Given the description of an element on the screen output the (x, y) to click on. 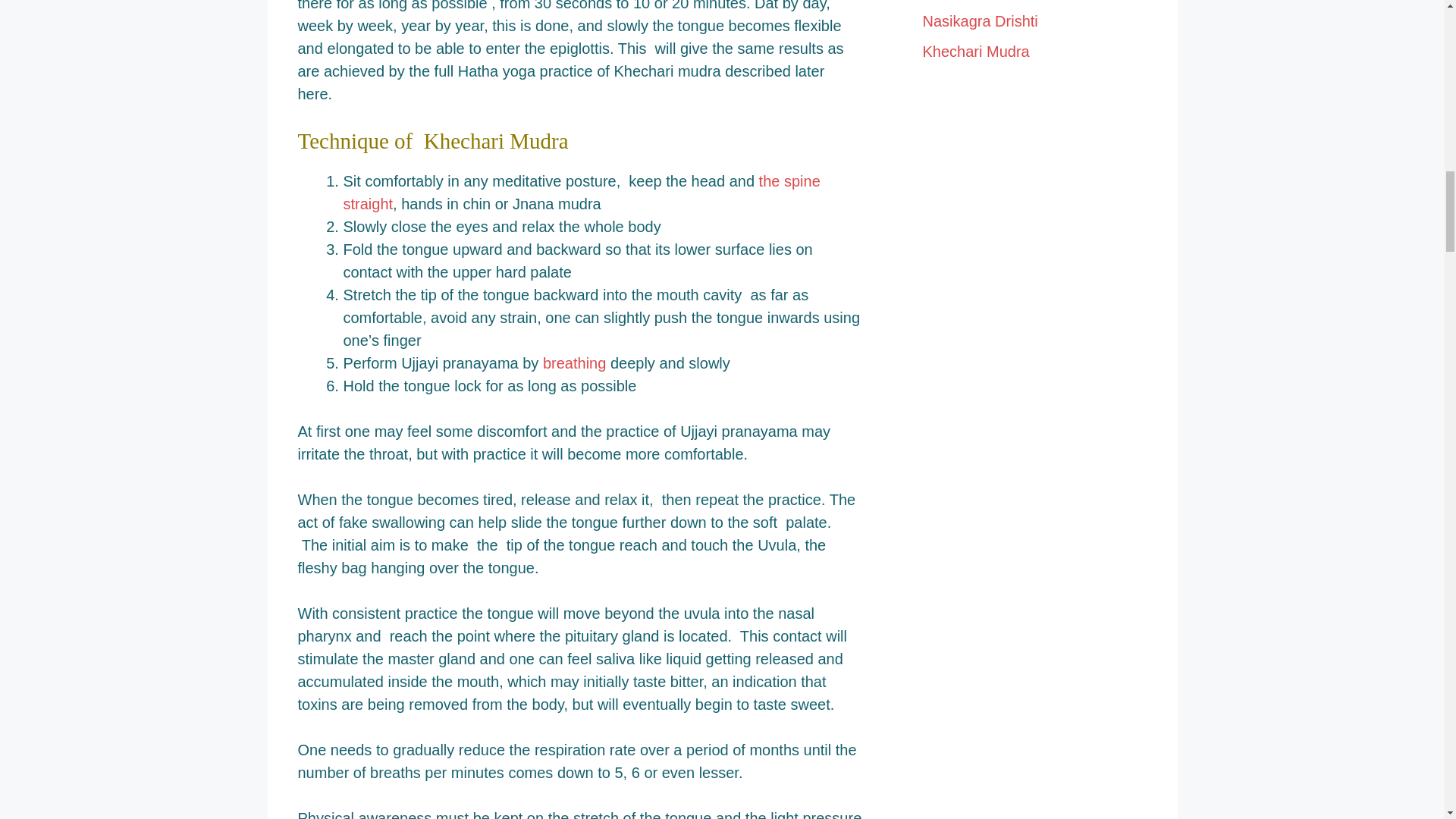
breathing (574, 362)
the spine straight (580, 192)
